Given the description of an element on the screen output the (x, y) to click on. 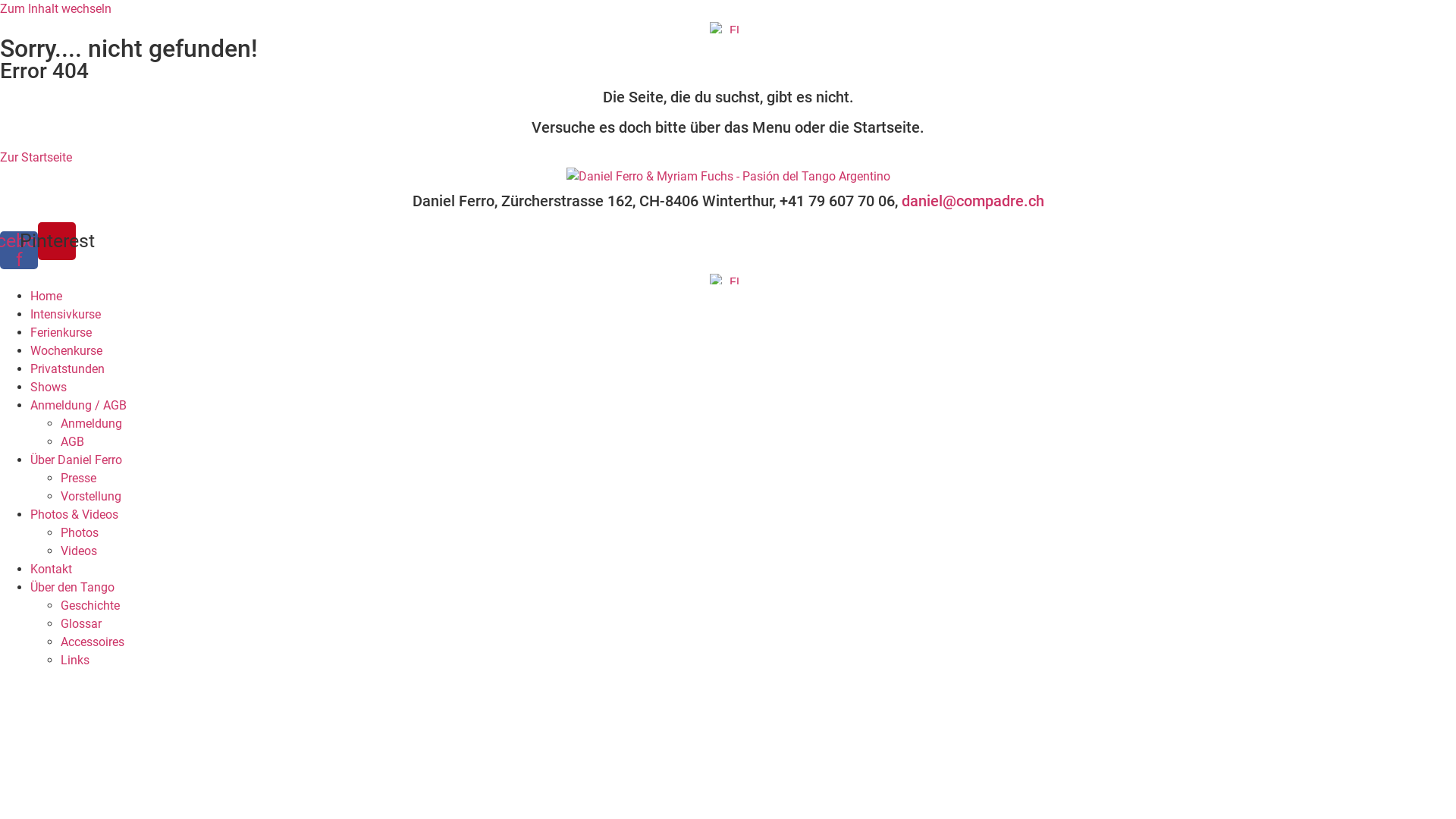
Pinterest Element type: text (56, 241)
Glossar Element type: text (80, 623)
Wochenkurse Element type: text (66, 350)
Geschichte Element type: text (89, 605)
Zum Inhalt wechseln Element type: text (55, 8)
Facebook-f Element type: text (18, 250)
Accessoires Element type: text (92, 641)
Anmeldung Element type: text (91, 423)
Links Element type: text (74, 659)
daniel@compadre.ch Element type: text (971, 200)
Presse Element type: text (78, 477)
Photos & Videos Element type: text (74, 514)
Privatstunden Element type: text (67, 368)
Videos Element type: text (78, 550)
Anmeldung / AGB Element type: text (78, 405)
Kontakt Element type: text (51, 568)
Vorstellung Element type: text (90, 496)
Photos Element type: text (79, 532)
Ferienkurse Element type: text (60, 332)
AGB Element type: text (72, 441)
Home Element type: text (46, 295)
Zur Startseite Element type: text (36, 157)
Intensivkurse Element type: text (65, 314)
Shows Element type: text (48, 386)
